Given the description of an element on the screen output the (x, y) to click on. 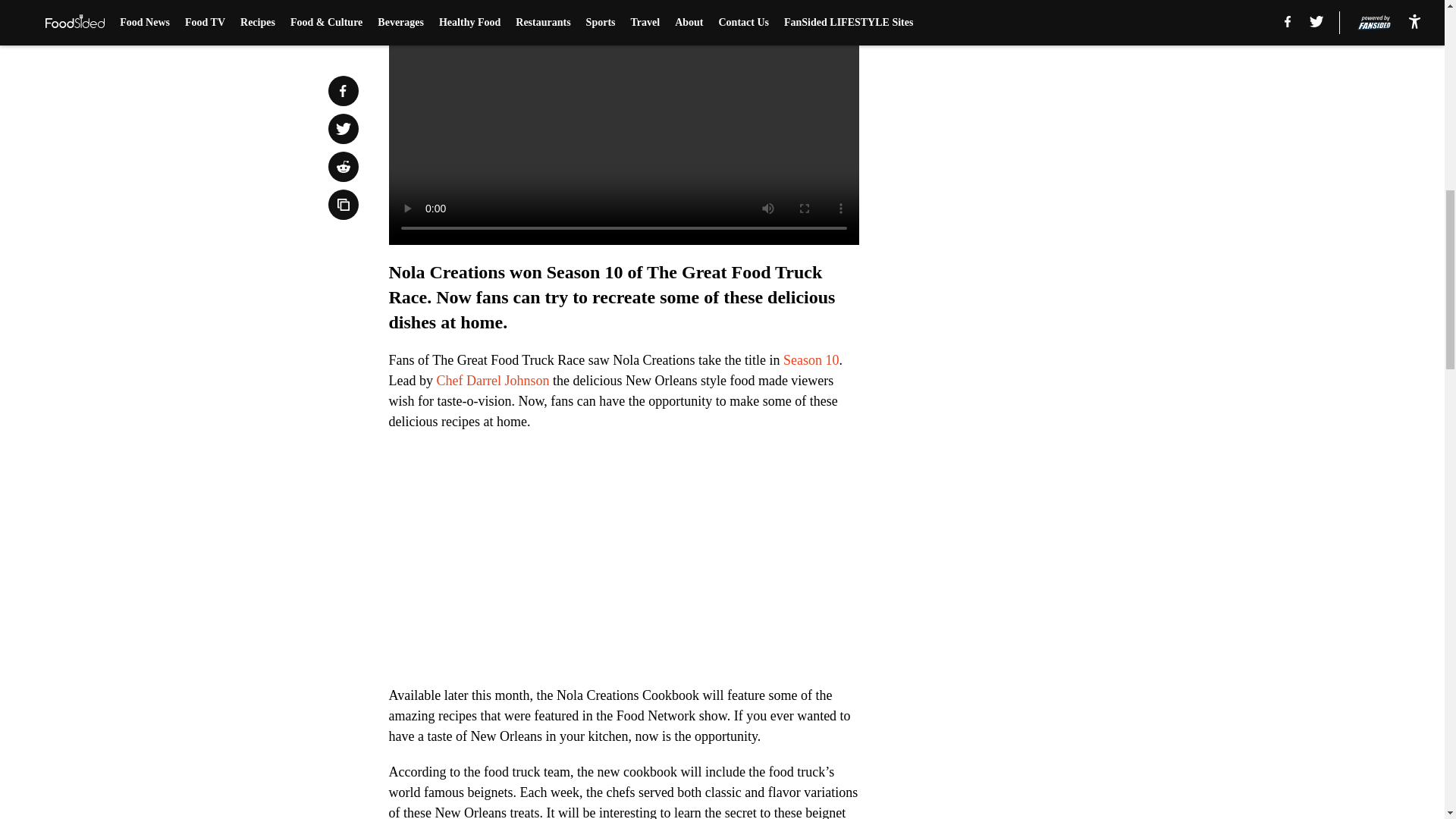
Season 10 (811, 359)
3rd party ad content (1047, 294)
Chef Darrel Johnson (491, 380)
3rd party ad content (1047, 84)
